Given the description of an element on the screen output the (x, y) to click on. 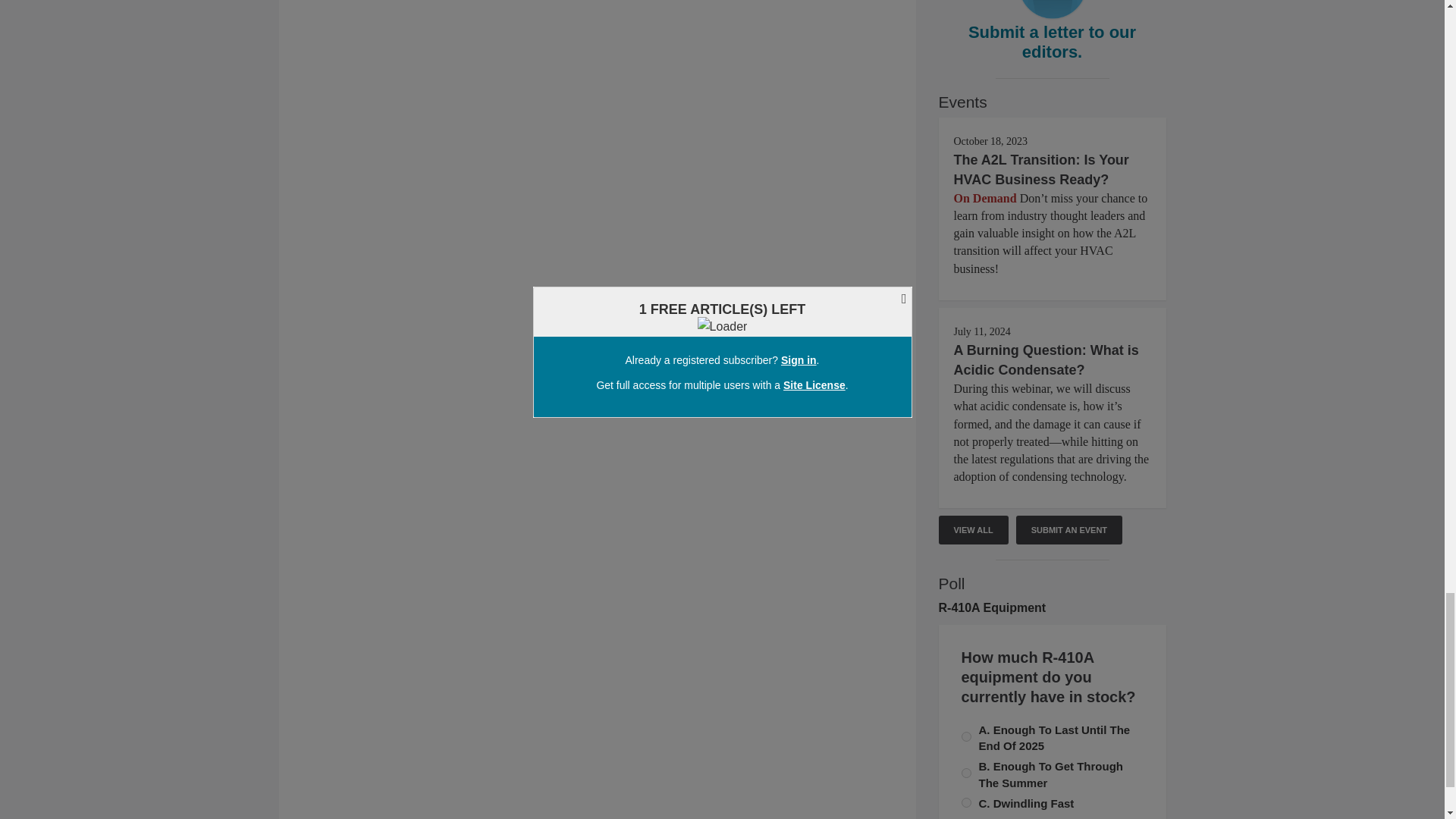
A Burning Question: What is Acidic Condensate? (1045, 360)
597 (965, 737)
598 (965, 802)
596 (965, 773)
The A2L Transition: Is Your HVAC Business Ready? (1041, 169)
